Given the description of an element on the screen output the (x, y) to click on. 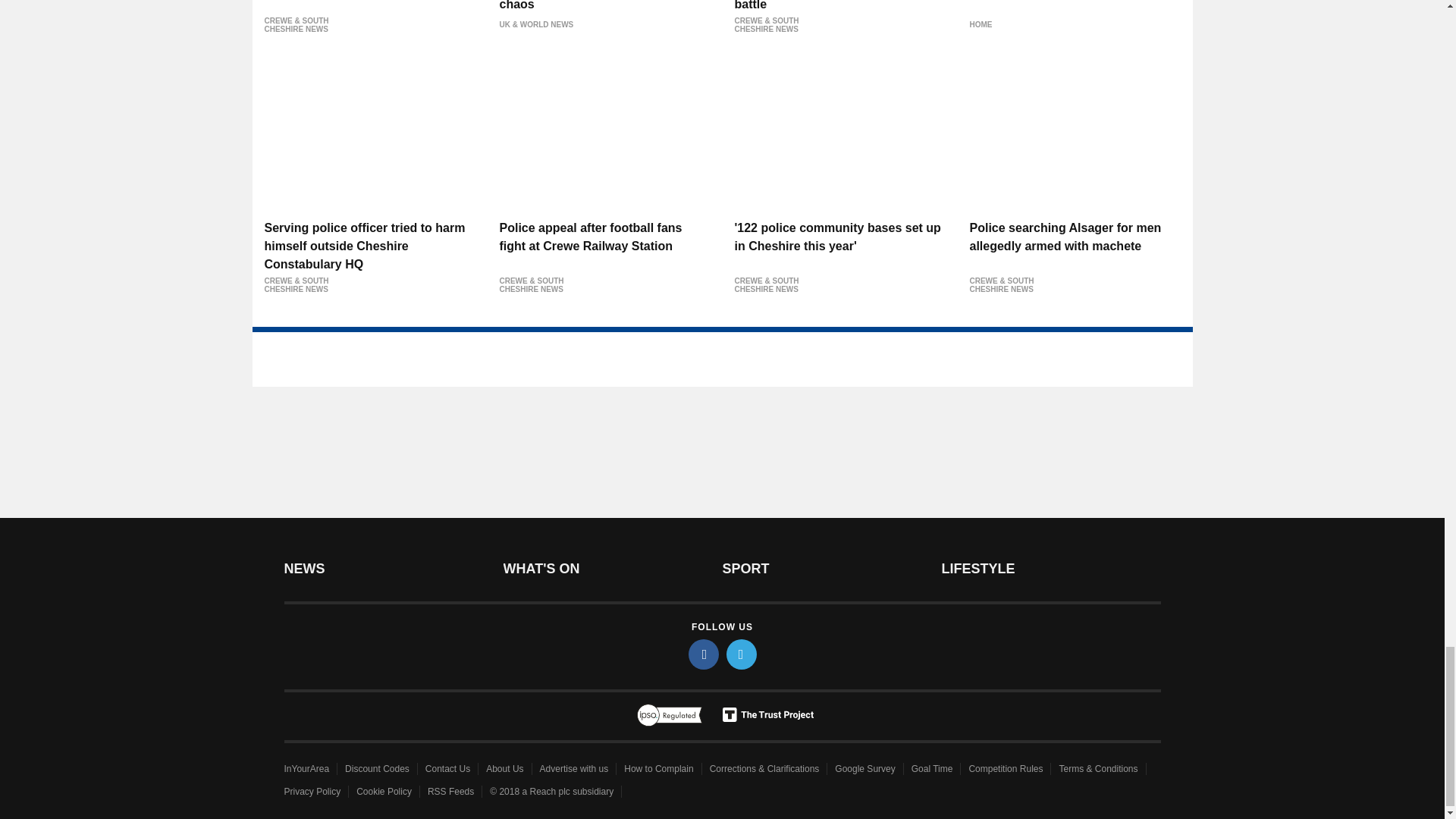
facebook (703, 654)
twitter (741, 654)
